Given the description of an element on the screen output the (x, y) to click on. 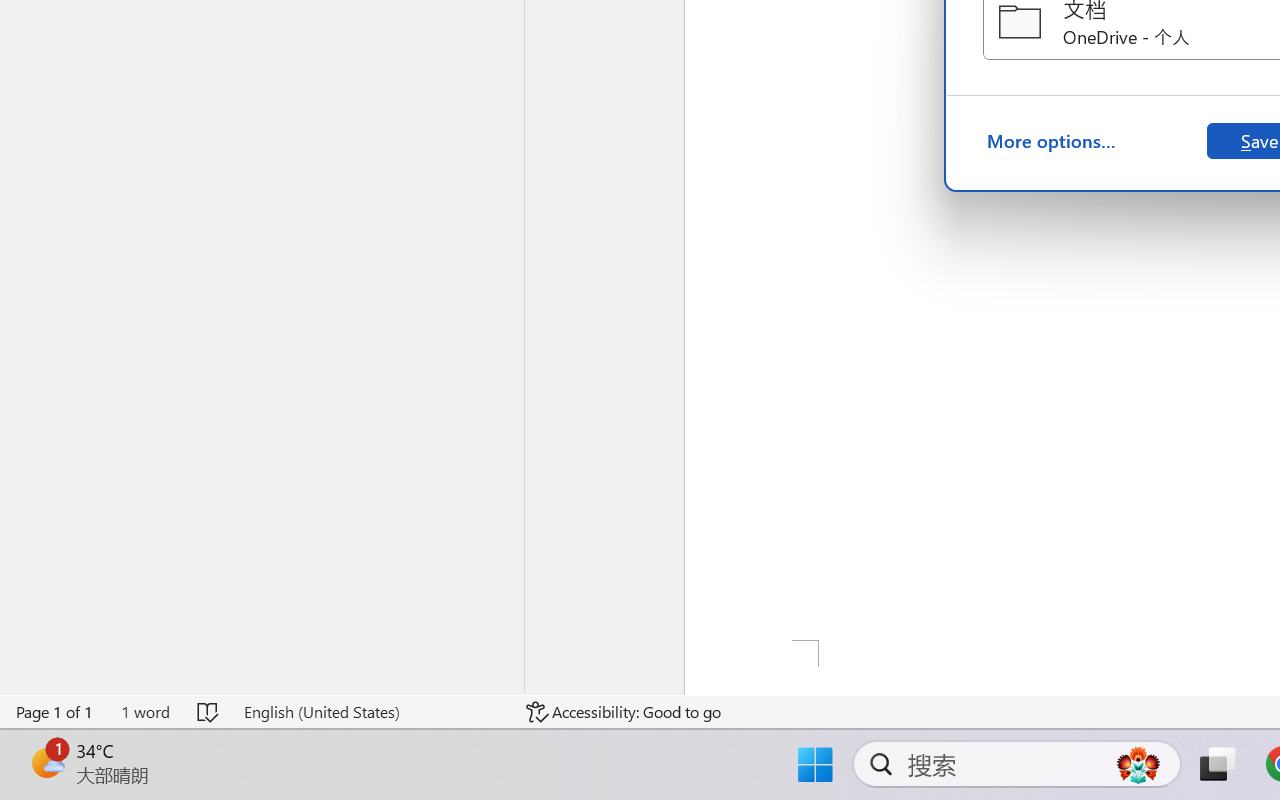
Word Count 1 word (145, 712)
Language English (United States) (370, 712)
Accessibility Checker Accessibility: Good to go (623, 712)
AutomationID: DynamicSearchBoxGleamImage (1138, 764)
Spelling and Grammar Check No Errors (208, 712)
Page Number Page 1 of 1 (55, 712)
AutomationID: BadgeAnchorLargeTicker (46, 762)
